Given the description of an element on the screen output the (x, y) to click on. 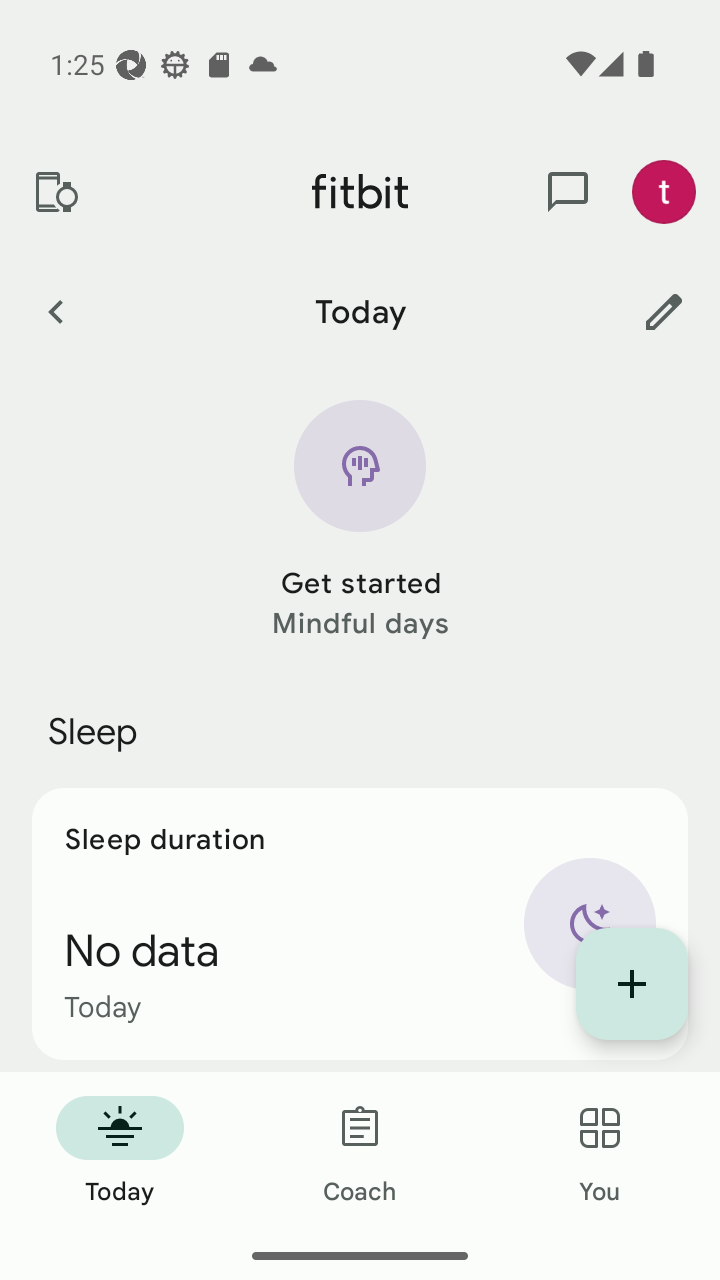
Devices and apps (55, 191)
messages and notifications (567, 191)
Previous Day (55, 311)
Customize (664, 311)
Mindfulness icon Get started Mindful days (360, 521)
Sleep duration No data Today Sleep static arc (359, 923)
Display list of quick log entries (632, 983)
Coach (359, 1151)
You (600, 1151)
